Given the description of an element on the screen output the (x, y) to click on. 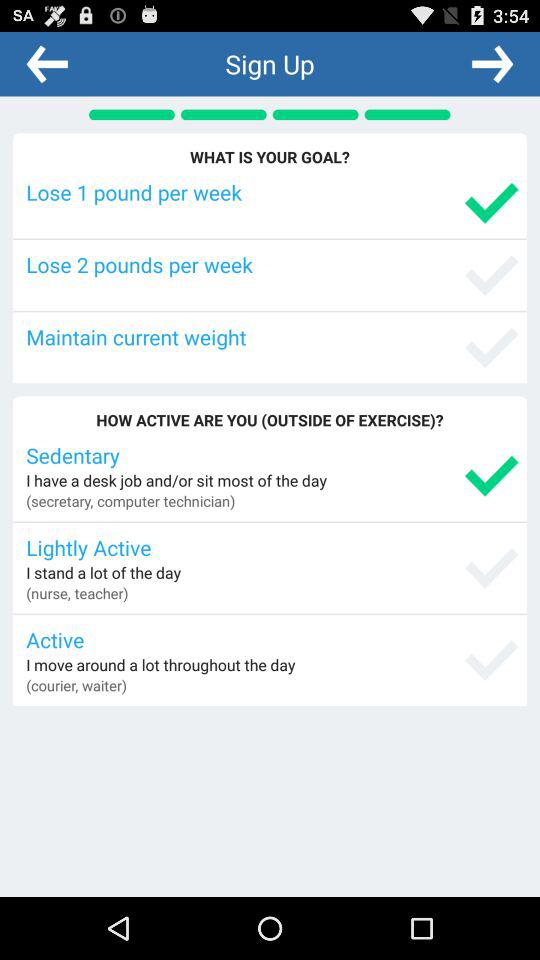
turn on app below (secretary, computer technician) app (272, 547)
